Given the description of an element on the screen output the (x, y) to click on. 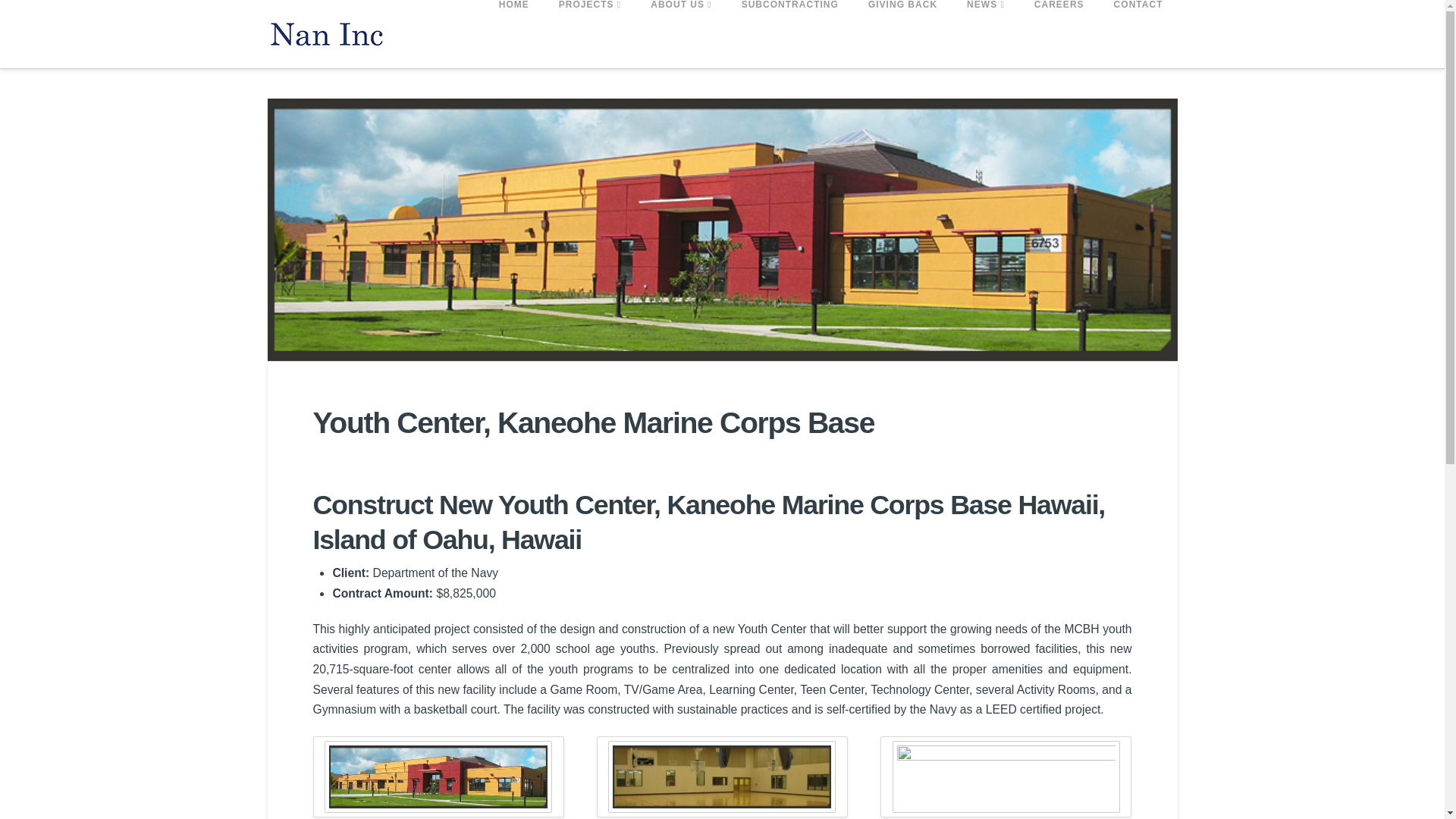
CONTACT (1138, 33)
CAREERS (1059, 33)
NEWS (985, 33)
GIVING BACK (902, 33)
PROJECTS (588, 33)
SUBCONTRACTING (789, 33)
ABOUT US (679, 33)
